Given the description of an element on the screen output the (x, y) to click on. 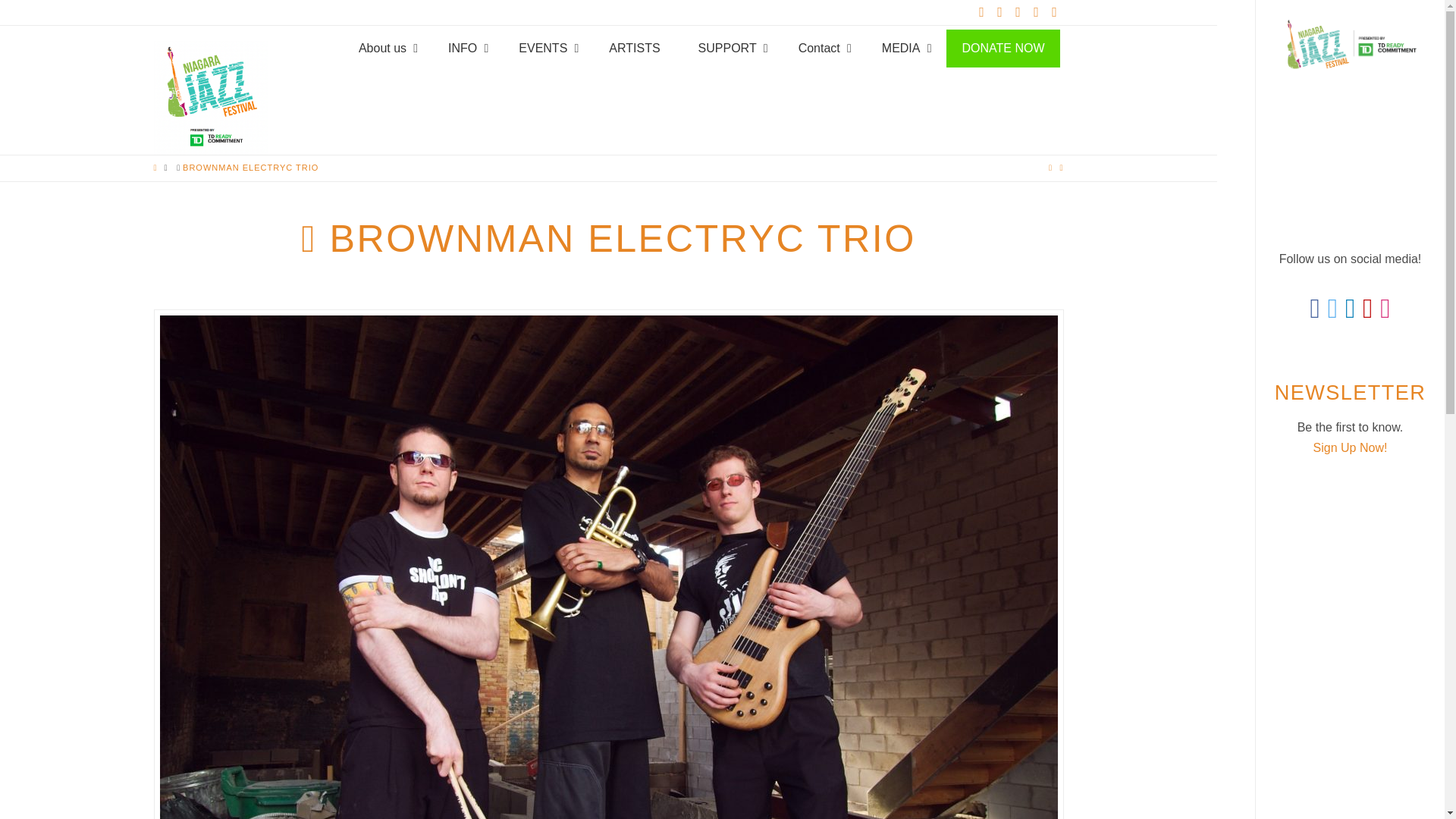
About us (384, 48)
Contact (821, 48)
ARTISTS (634, 48)
You Are Here (250, 167)
